Given the description of an element on the screen output the (x, y) to click on. 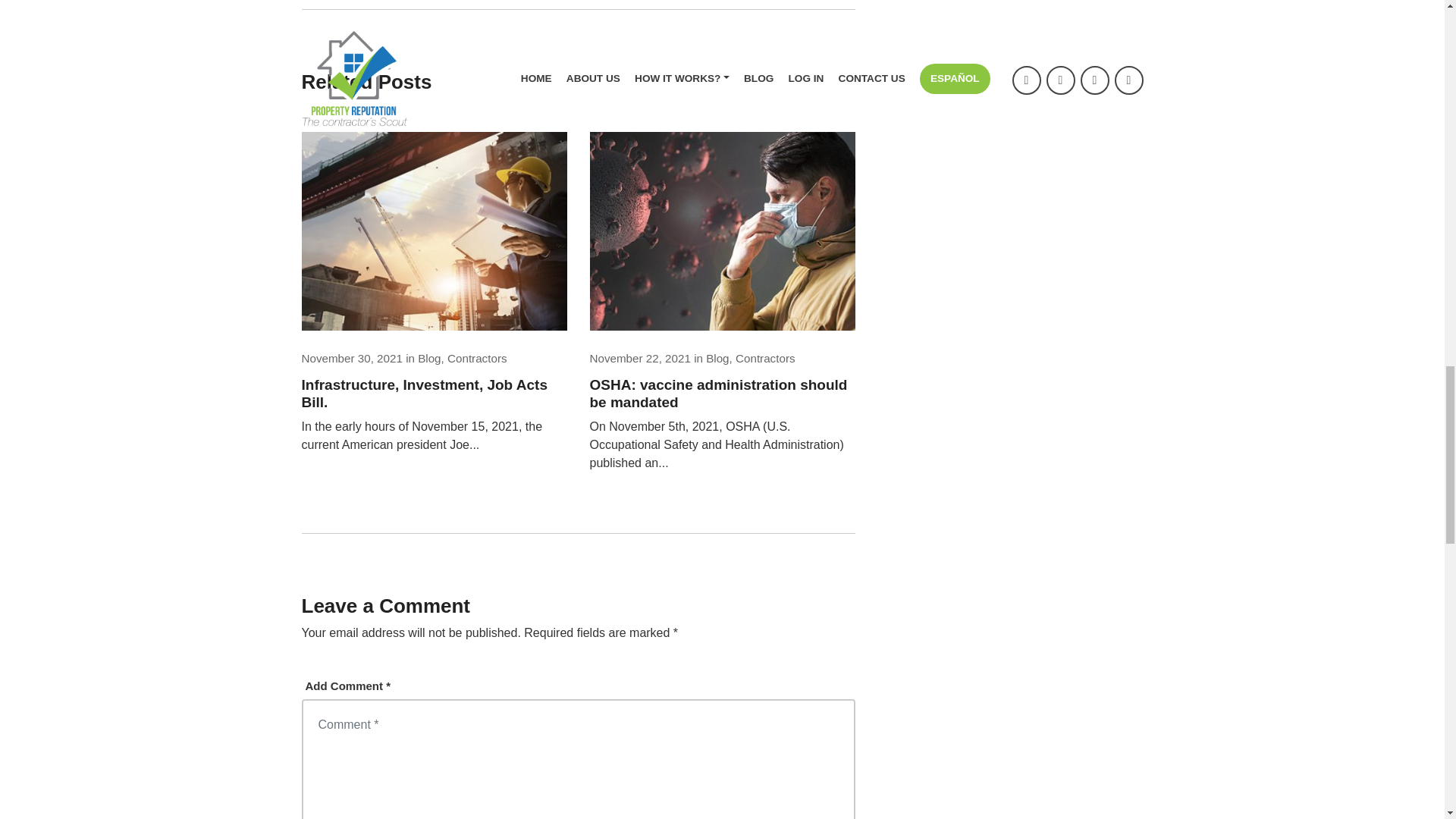
Contractors (476, 358)
Contractors (764, 358)
Blog (717, 358)
OSHA: vaccine administration should be mandated (722, 393)
November 22, 2021 (639, 358)
Infrastructure, Investment, Job Acts Bill. (434, 393)
November 30, 2021 (352, 358)
Blog (429, 358)
